Given the description of an element on the screen output the (x, y) to click on. 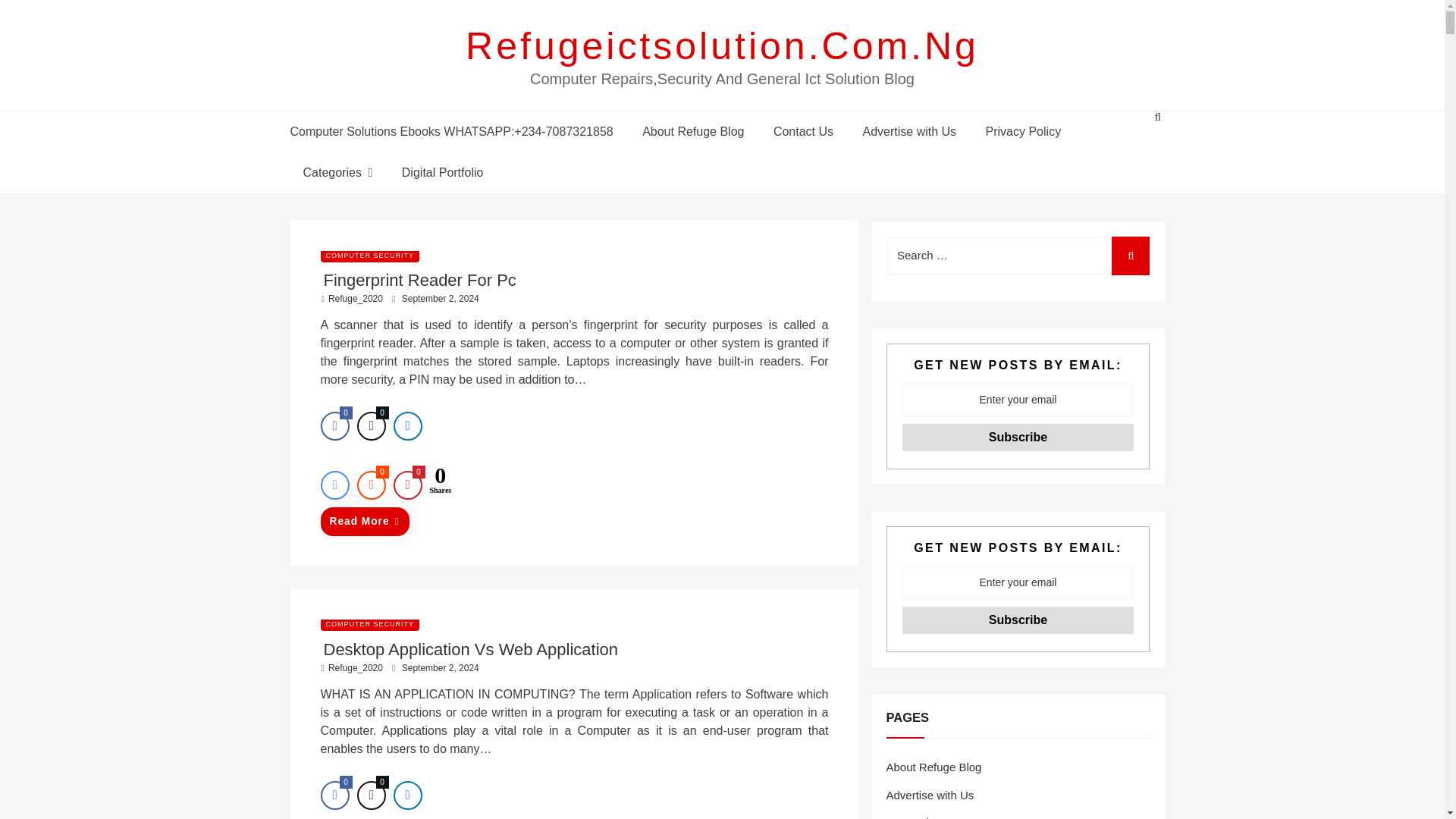
Contact Us (802, 130)
COMPUTER SECURITY (369, 255)
0 (407, 484)
Subscribe (1018, 619)
0 (334, 425)
0 (334, 795)
September 2, 2024 (440, 667)
0 (370, 425)
Privacy Policy (1023, 130)
COMPUTER SECURITY (369, 623)
